Given the description of an element on the screen output the (x, y) to click on. 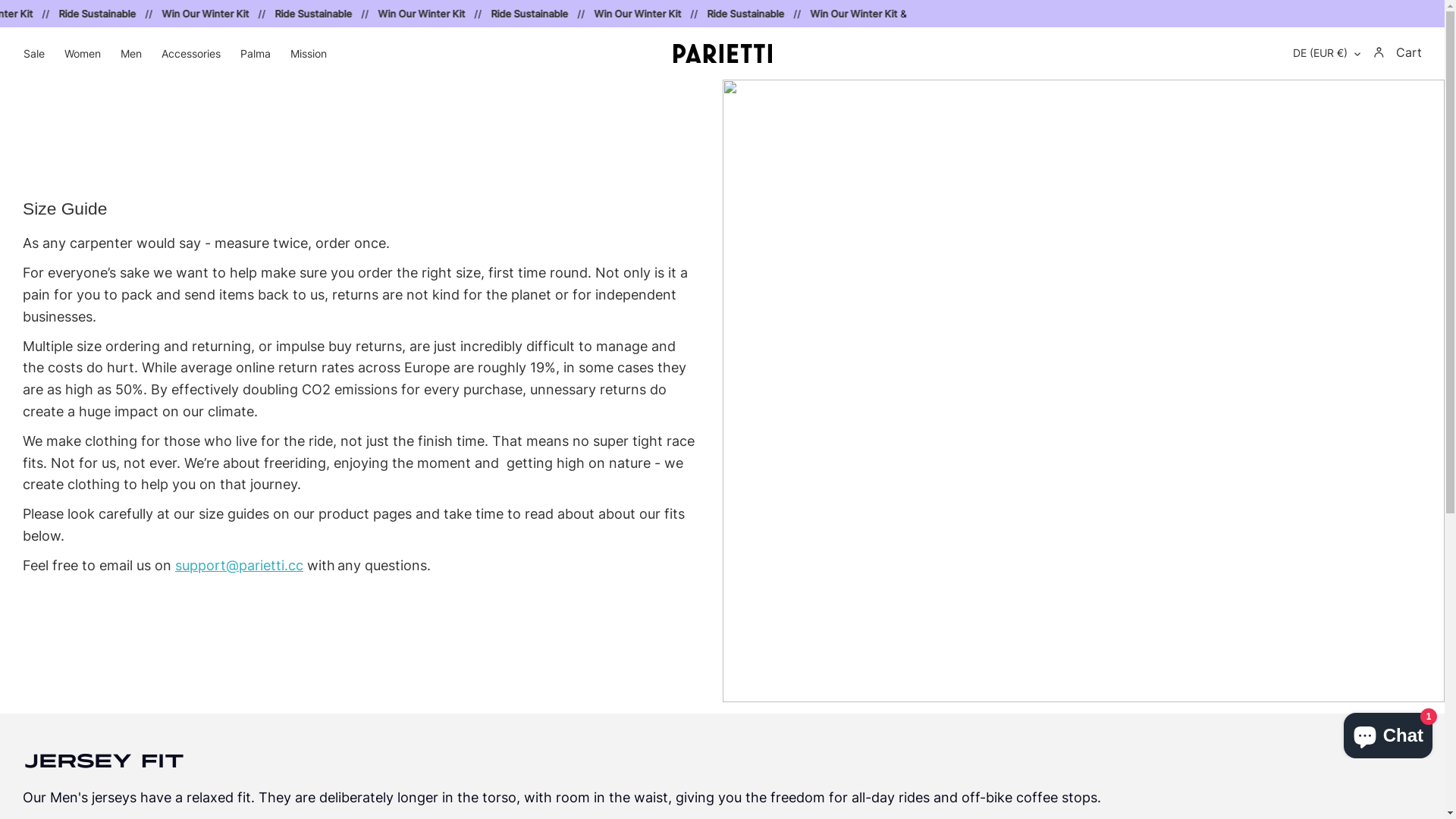
Cart Element type: text (1408, 52)
Men Element type: text (130, 53)
Accessories Element type: text (190, 53)
Shopify online store chat Element type: hover (1388, 732)
Sale Element type: text (33, 53)
support@parietti.cc Element type: text (239, 565)
Account Element type: text (1379, 51)
Mission Element type: text (308, 53)
Palma Element type: text (255, 53)
Women Element type: text (82, 53)
